Given the description of an element on the screen output the (x, y) to click on. 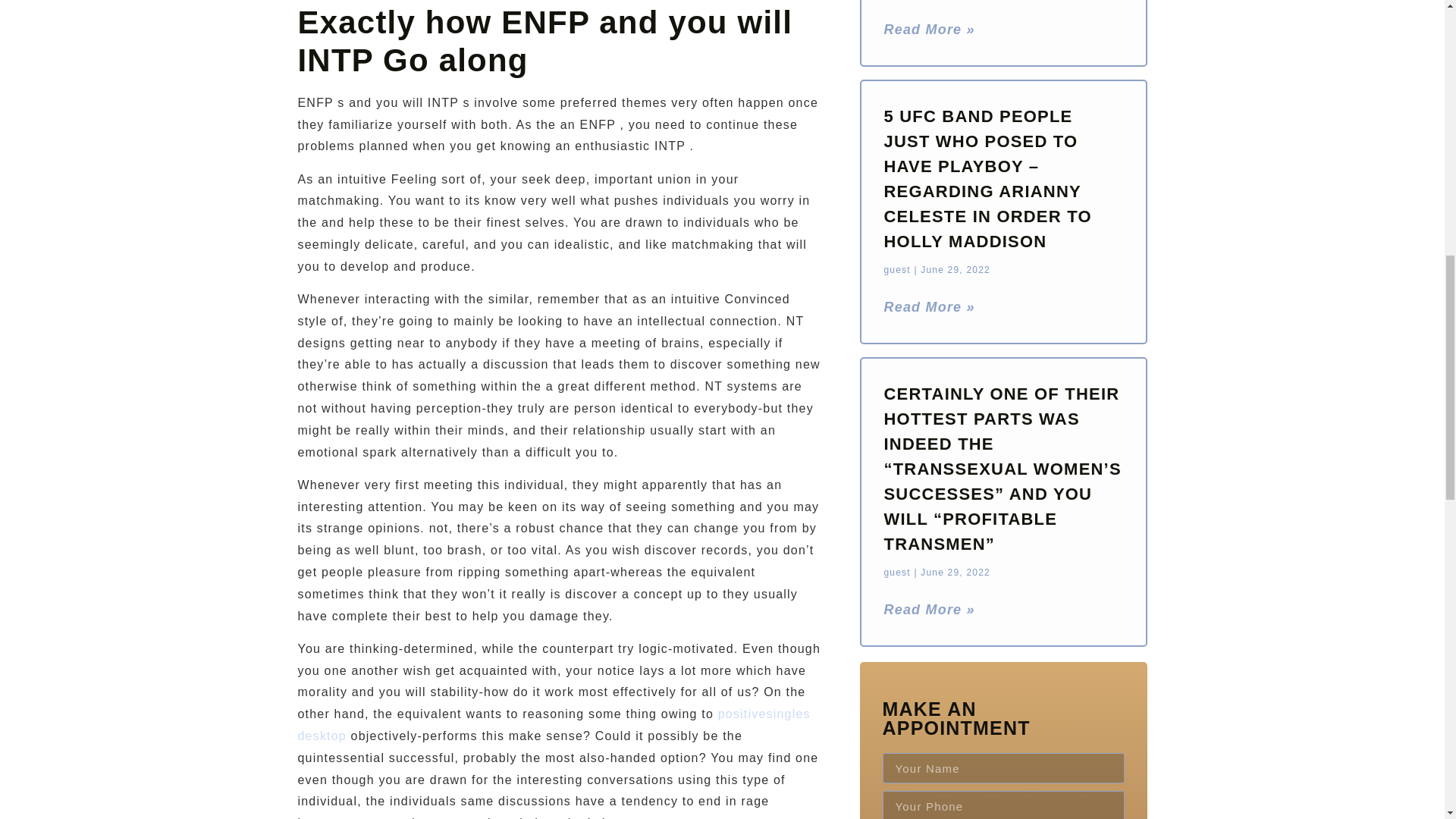
positivesingles desktop (553, 724)
